Given the description of an element on the screen output the (x, y) to click on. 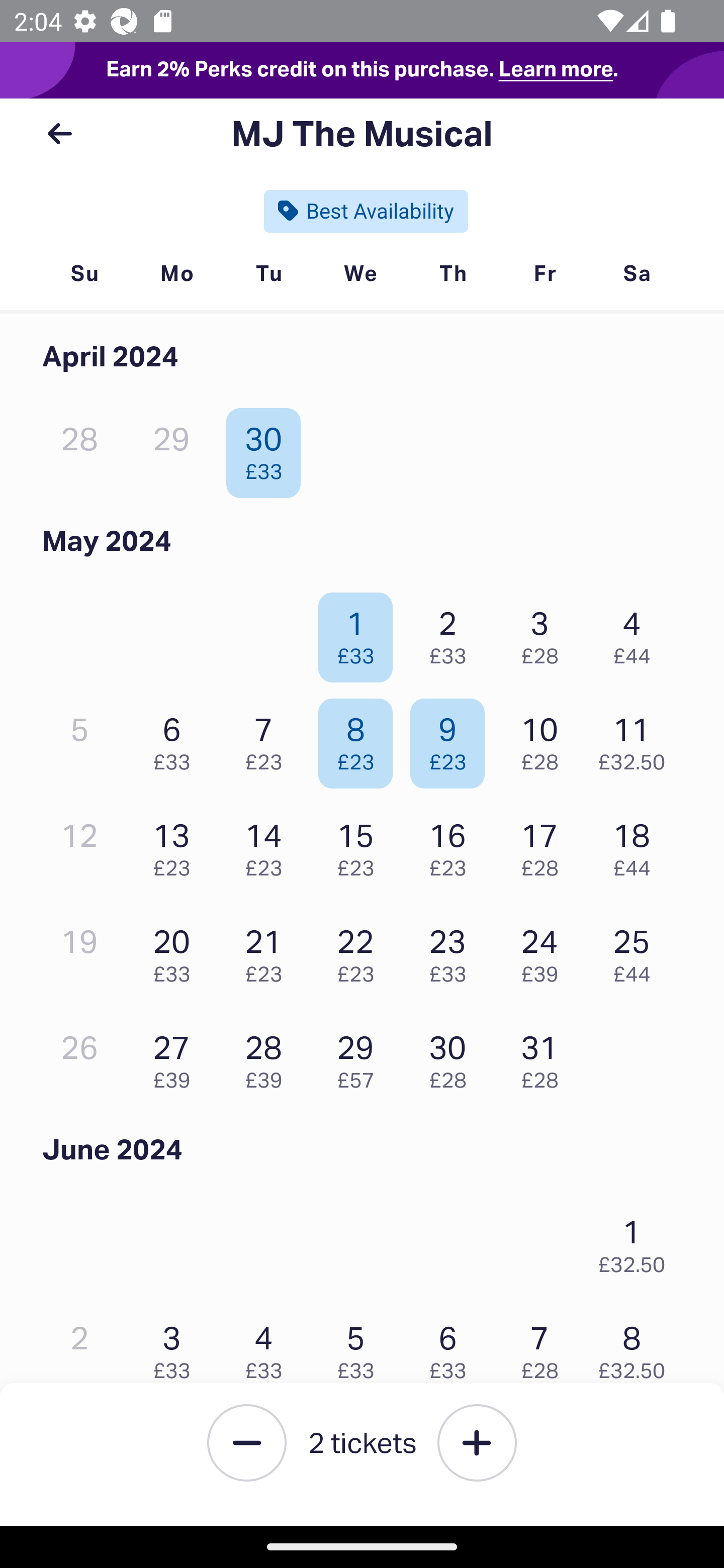
Earn 2% Perks credit on this purchase. Learn more. (362, 70)
back button (59, 133)
Best Availability (366, 210)
30 £33 (268, 448)
1 £33 (360, 632)
2 £33 (452, 632)
3 £28 (544, 632)
4 £44 (636, 632)
6 £33 (176, 738)
7 £23 (268, 738)
8 £23 (360, 738)
9 £23 (452, 738)
10 £28 (544, 738)
11 £32.50 (636, 738)
13 £23 (176, 844)
14 £23 (268, 844)
15 £23 (360, 844)
16 £23 (452, 844)
17 £28 (544, 844)
18 £44 (636, 844)
20 £33 (176, 950)
21 £23 (268, 950)
22 £23 (360, 950)
23 £33 (452, 950)
24 £39 (544, 950)
25 £44 (636, 950)
27 £39 (176, 1057)
28 £39 (268, 1057)
29 £57 (360, 1057)
30 £28 (452, 1057)
31 £28 (544, 1057)
1 £32.50 (636, 1240)
3 £33 (176, 1347)
4 £33 (268, 1347)
5 £33 (360, 1347)
6 £33 (452, 1347)
7 £28 (544, 1347)
8 £32.50 (636, 1347)
